Given the description of an element on the screen output the (x, y) to click on. 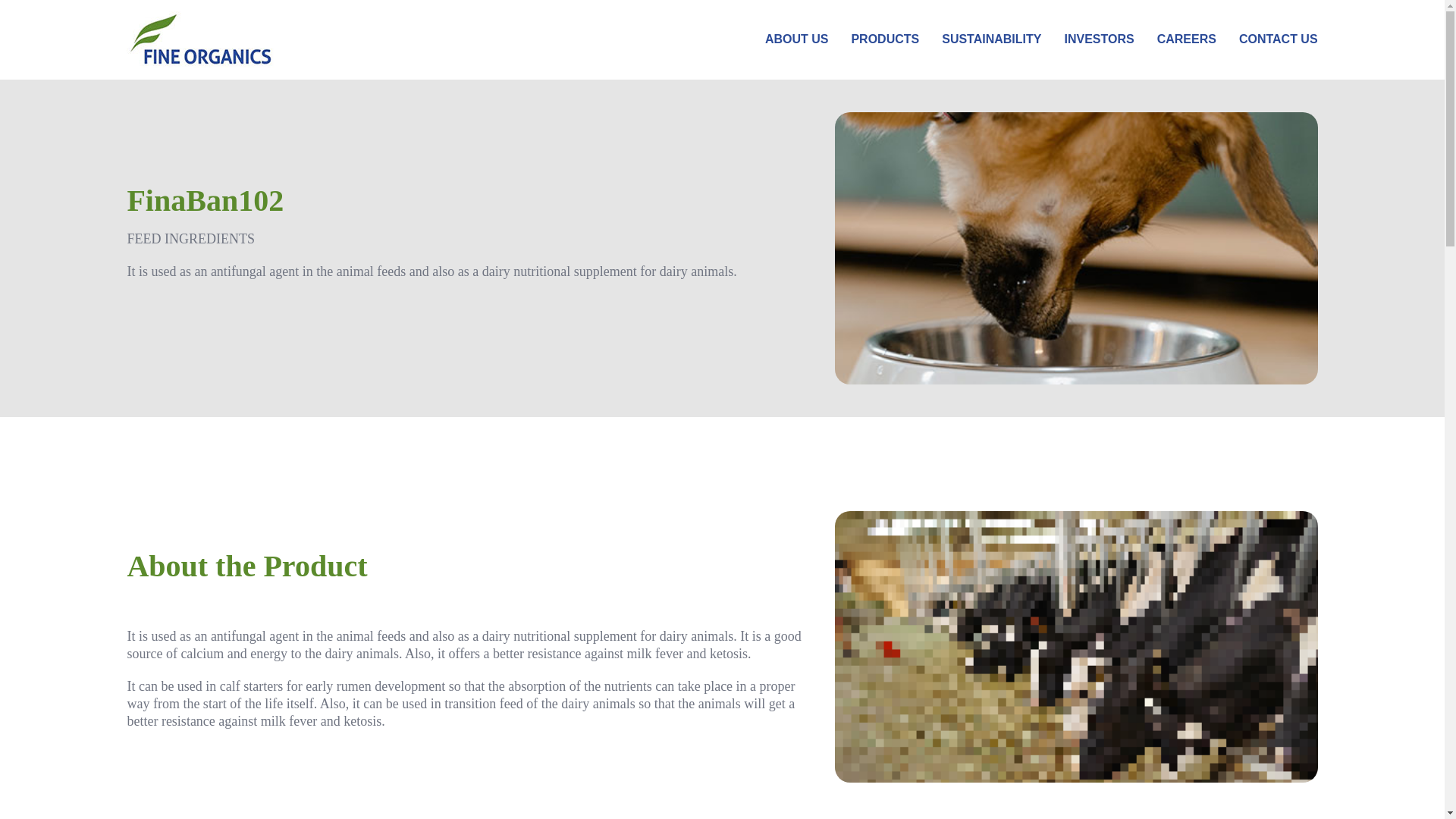
CONTACT US (1278, 38)
PRODUCTS (884, 38)
ABOUT US (796, 38)
SUSTAINABILITY (991, 38)
CAREERS (1186, 38)
INVESTORS (1099, 38)
